Given the description of an element on the screen output the (x, y) to click on. 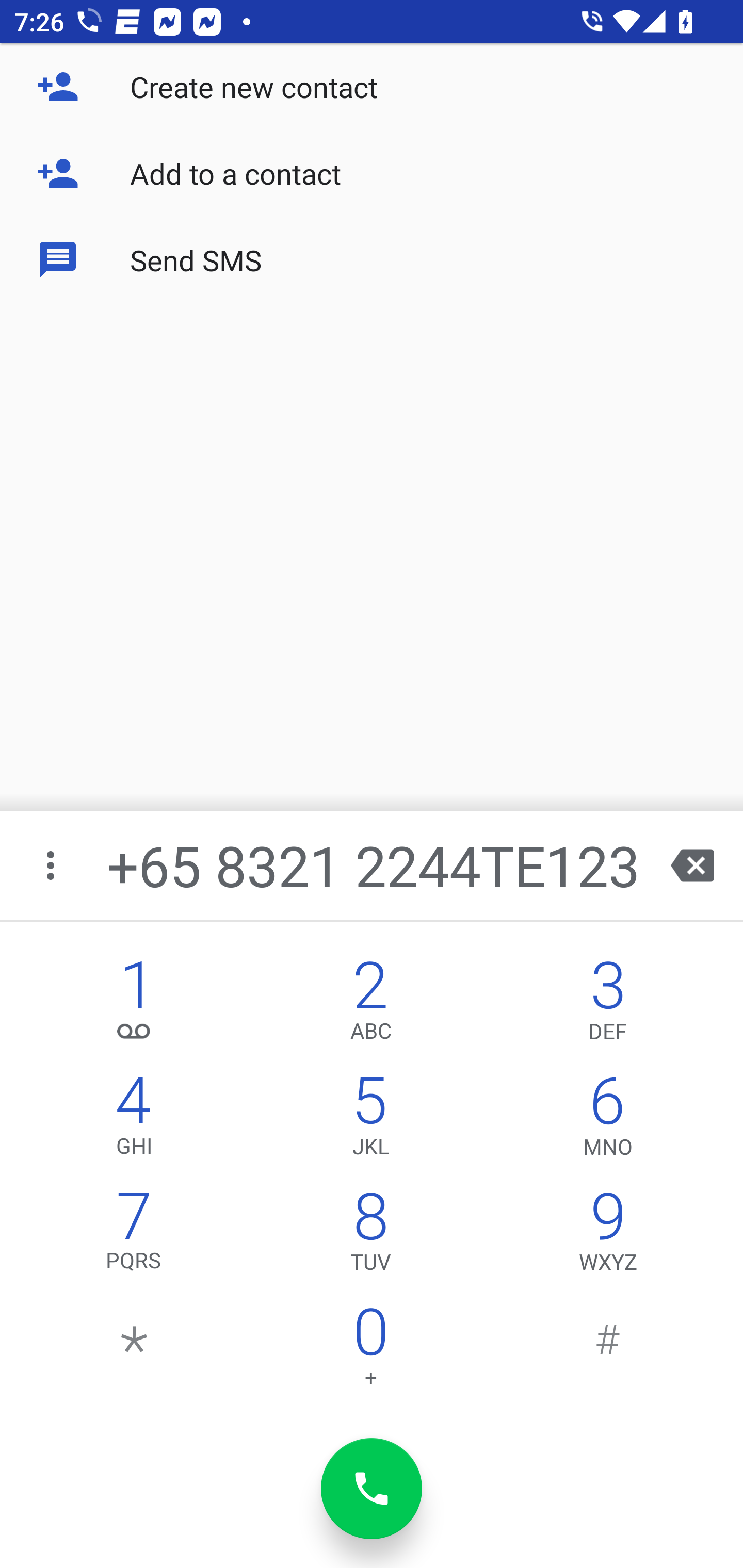
Create new contact (371, 86)
Add to a contact (371, 173)
Send SMS (371, 259)
+65 8321 2244TE123 (372, 865)
backspace (692, 865)
More options (52, 865)
1, 1 (133, 1005)
2,ABC 2 ABC (370, 1005)
3,DEF 3 DEF (607, 1005)
4,GHI 4 GHI (133, 1120)
5,JKL 5 JKL (370, 1120)
6,MNO 6 MNO (607, 1120)
7,PQRS 7 PQRS (133, 1235)
8,TUV 8 TUV (370, 1235)
9,WXYZ 9 WXYZ (607, 1235)
* (133, 1351)
0 0 + (370, 1351)
# (607, 1351)
dial (371, 1488)
